Given the description of an element on the screen output the (x, y) to click on. 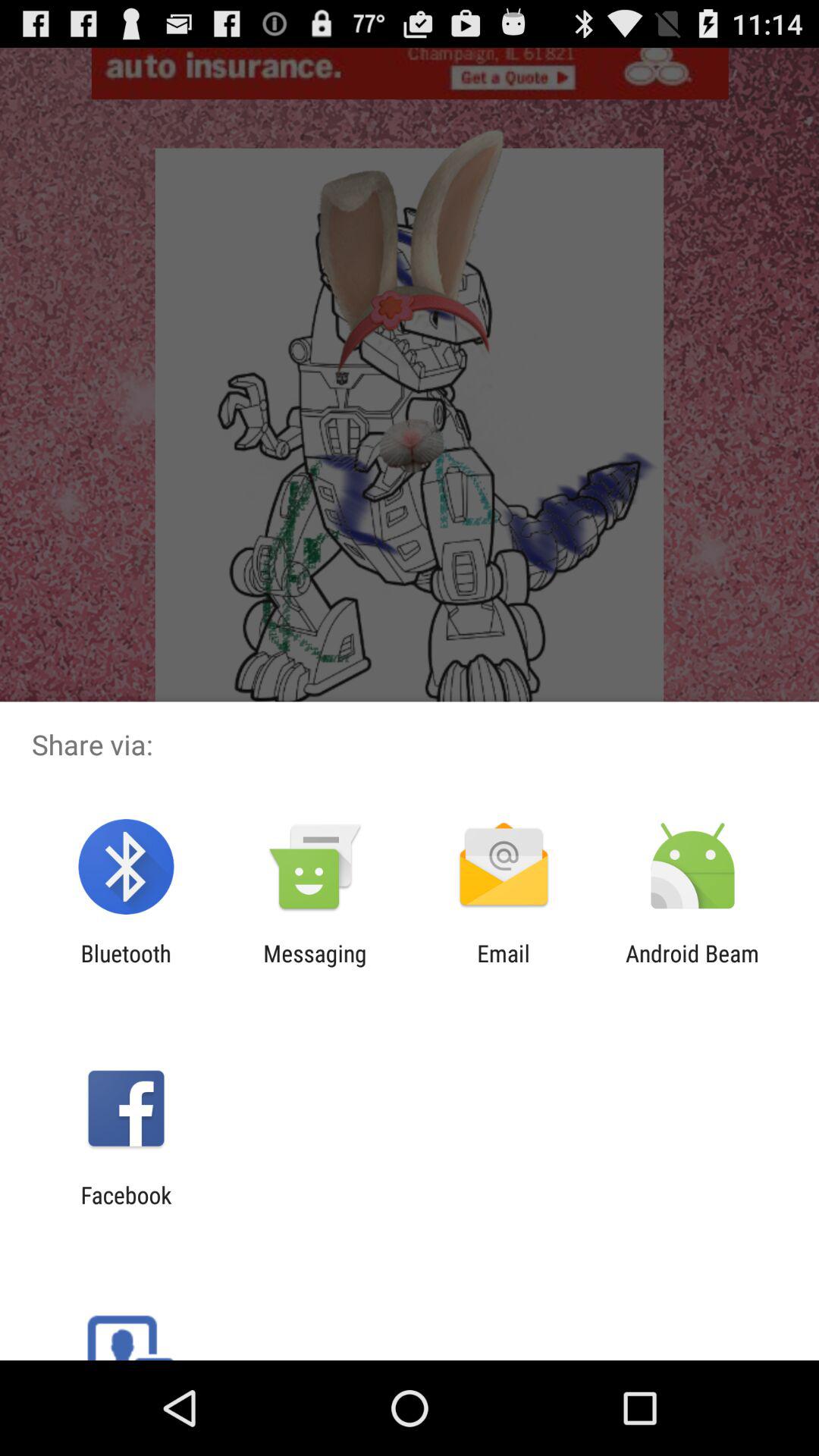
swipe to email item (503, 966)
